Given the description of an element on the screen output the (x, y) to click on. 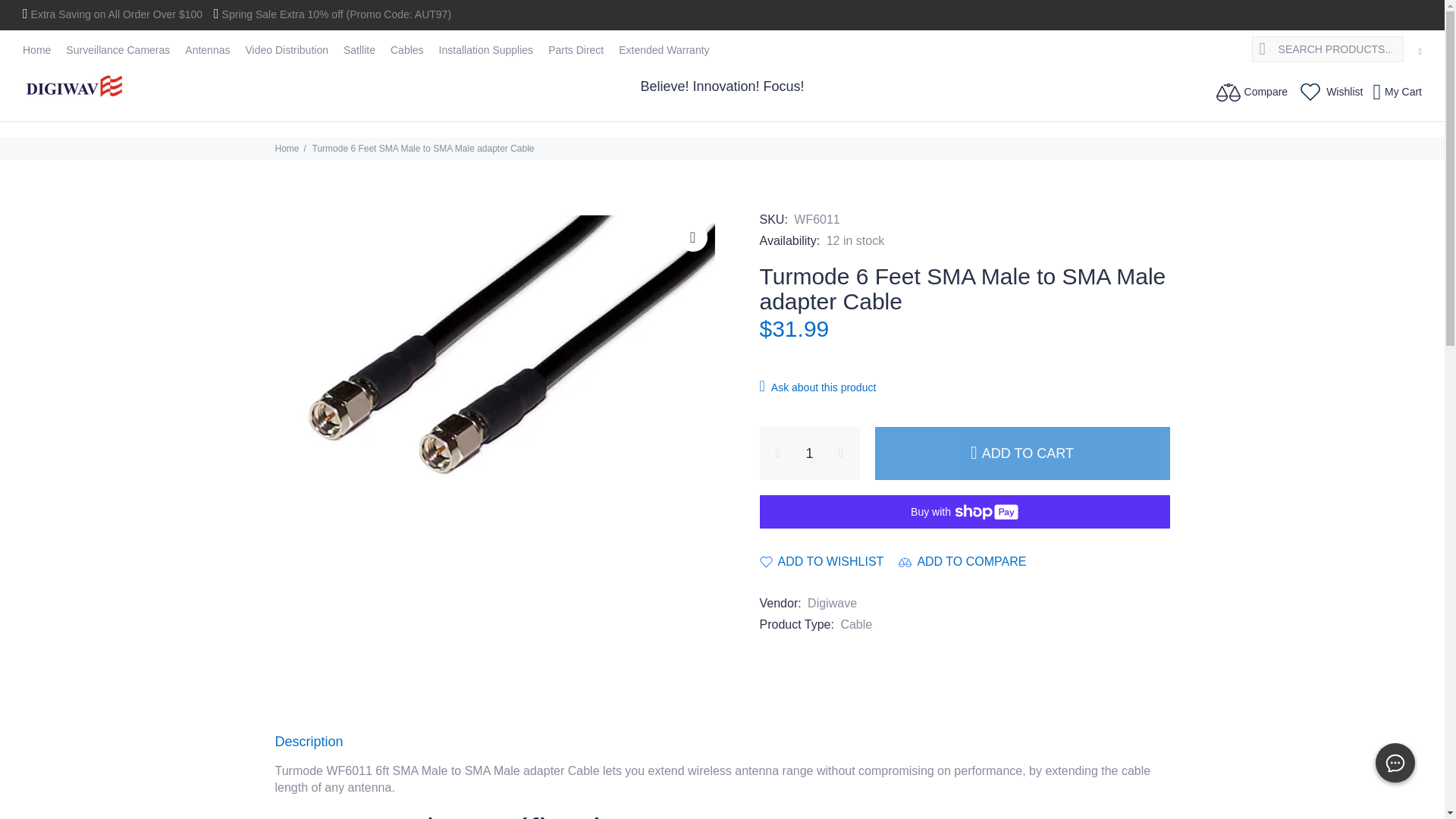
1 (810, 452)
